Given the description of an element on the screen output the (x, y) to click on. 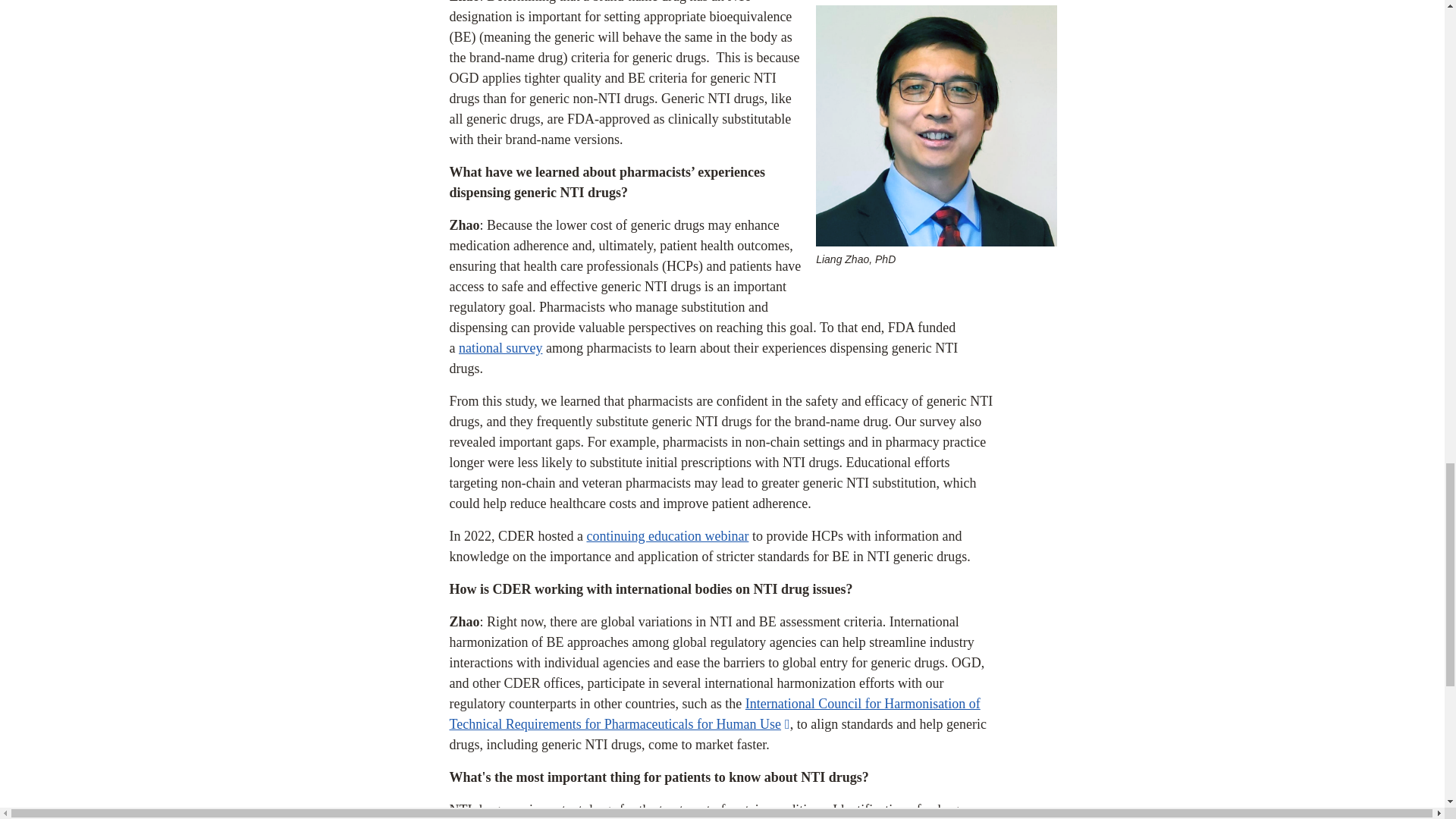
Understanding Generic Narrow Therapeutic Index Drugs (667, 535)
Liang Zhao, PhD Headshot (936, 125)
